Given the description of an element on the screen output the (x, y) to click on. 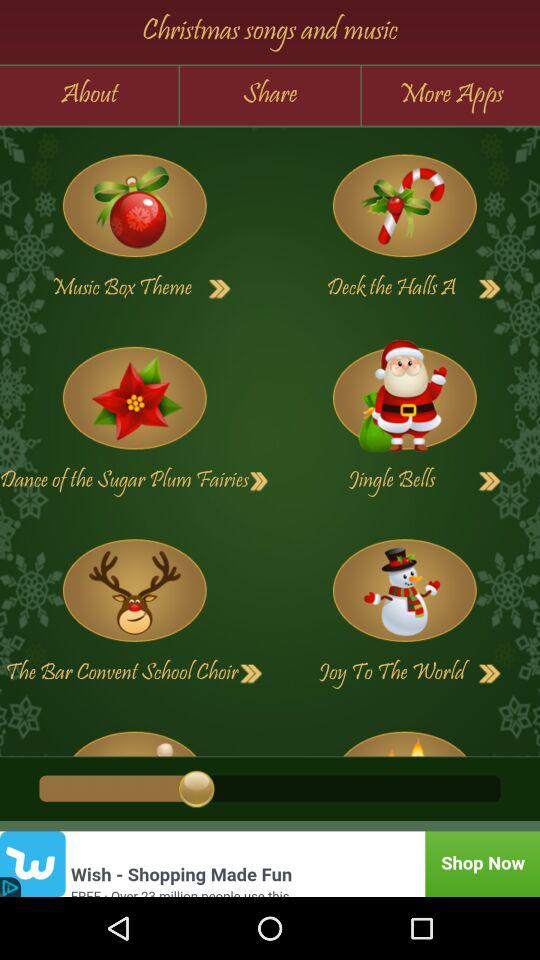
play this song (404, 736)
